Given the description of an element on the screen output the (x, y) to click on. 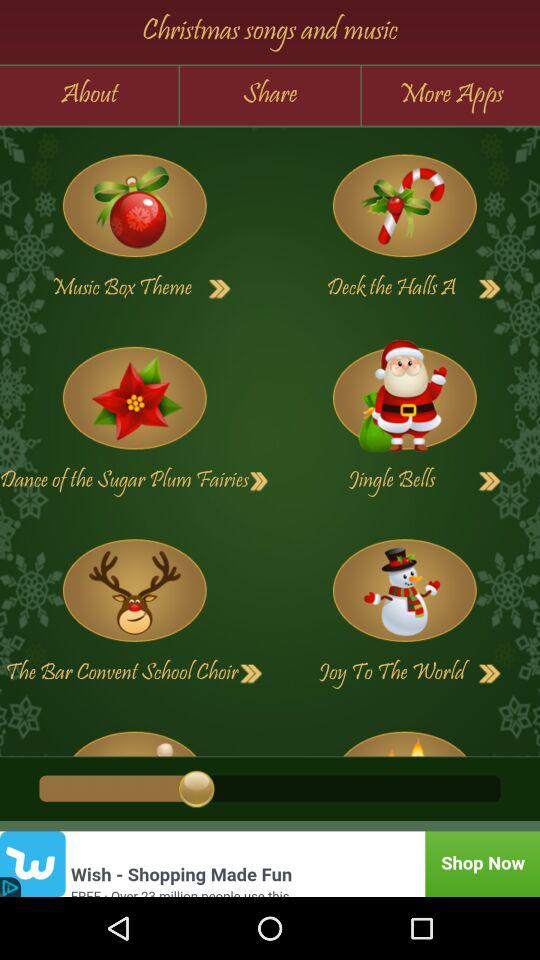
play this song (404, 736)
